Given the description of an element on the screen output the (x, y) to click on. 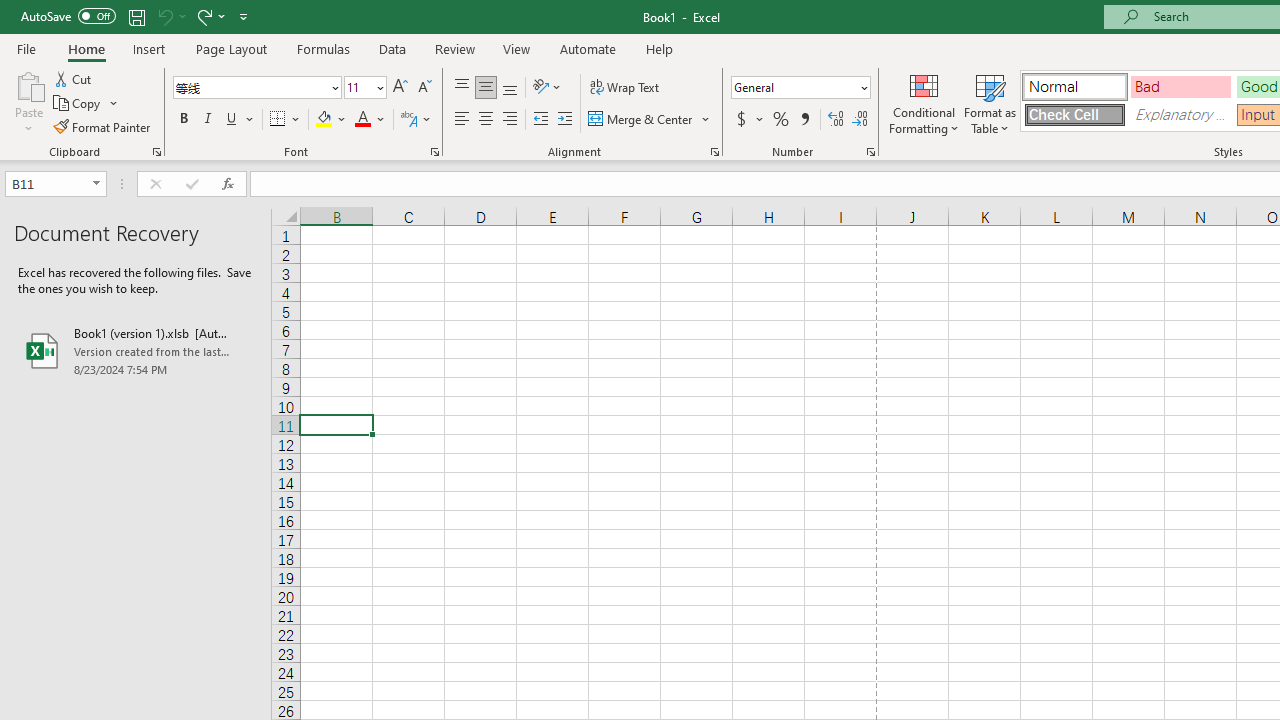
Fill Color RGB(255, 255, 0) (324, 119)
Copy (78, 103)
Wrap Text (624, 87)
Explanatory Text (1180, 114)
AutoSave (68, 16)
Automate (588, 48)
Paste (28, 84)
Bad (1180, 86)
Middle Align (485, 87)
Align Left (461, 119)
